Given the description of an element on the screen output the (x, y) to click on. 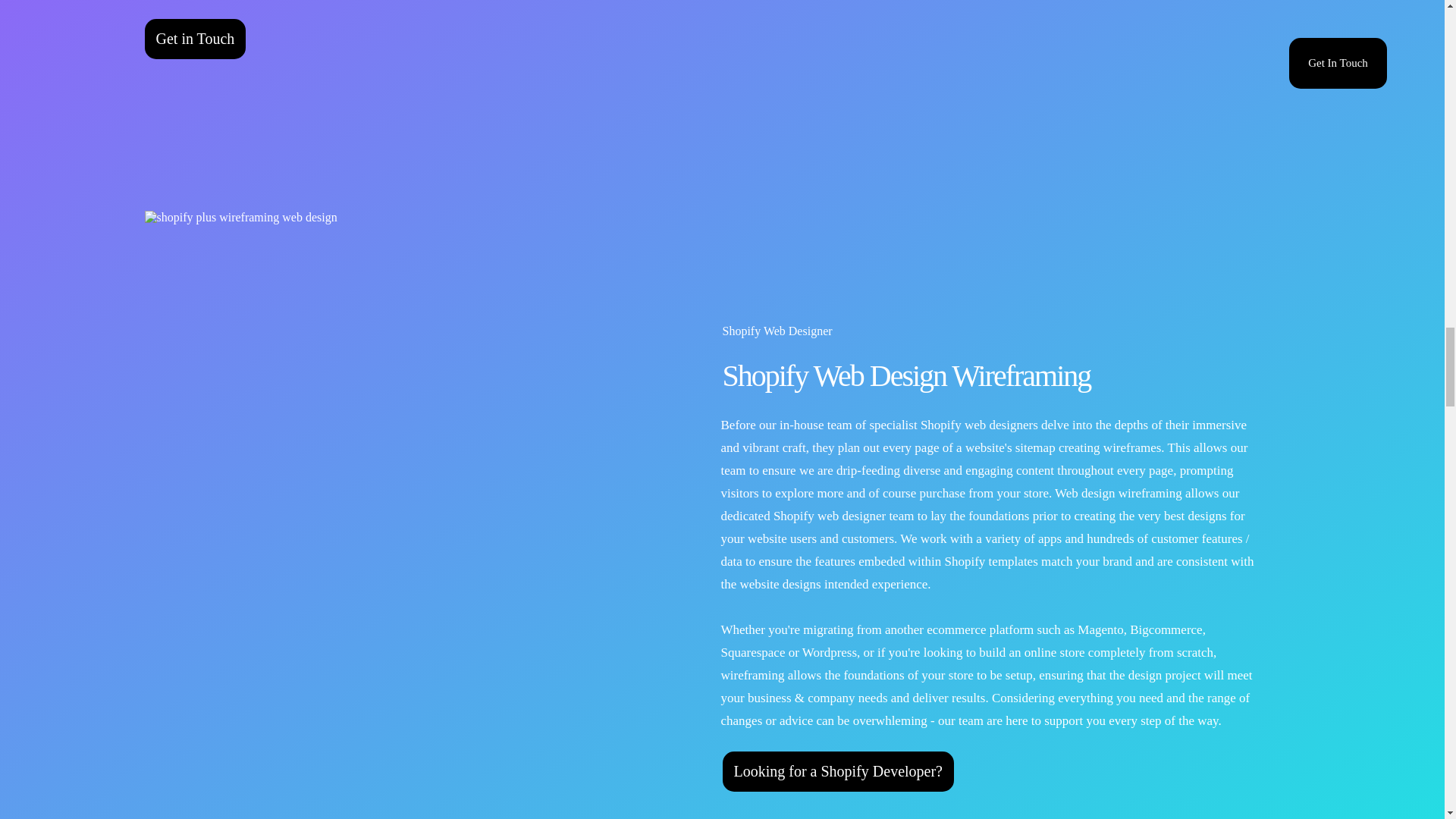
Looking for a Shopify Developer? (837, 771)
Get in Touch (195, 39)
